Given the description of an element on the screen output the (x, y) to click on. 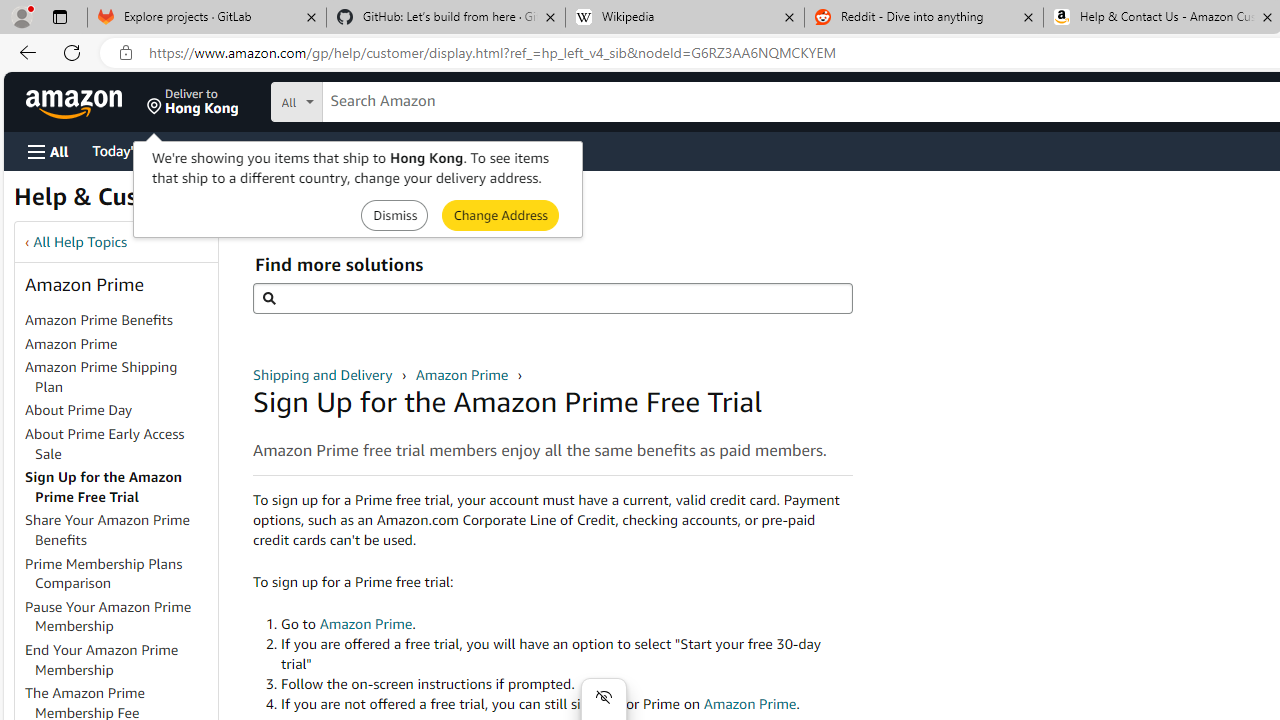
Go to Amazon Prime. (566, 624)
Amazon Prime Shipping Plan (101, 376)
Amazon (76, 101)
Customer Service (256, 150)
Pause Your Amazon Prime Membership (120, 616)
Amazon Prime Benefits (98, 320)
About Prime Early Access Sale (120, 444)
Pause Your Amazon Prime Membership (108, 615)
All Help Topics (80, 242)
Help & Customer Service (154, 201)
End Your Amazon Prime Membership (102, 659)
